Given the description of an element on the screen output the (x, y) to click on. 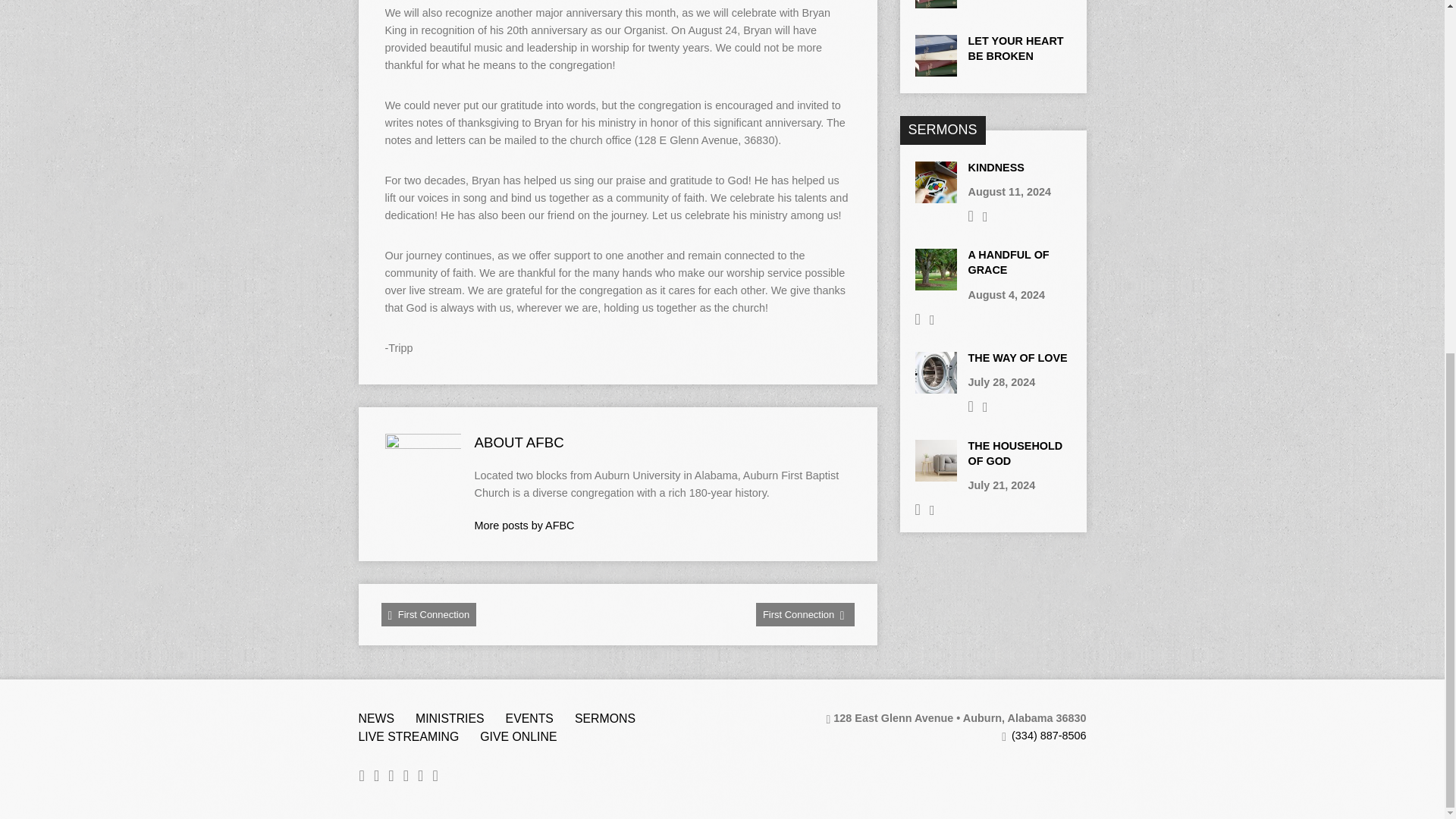
First Connection (804, 614)
More posts by AFBC (524, 525)
First Connection (428, 614)
